Given the description of an element on the screen output the (x, y) to click on. 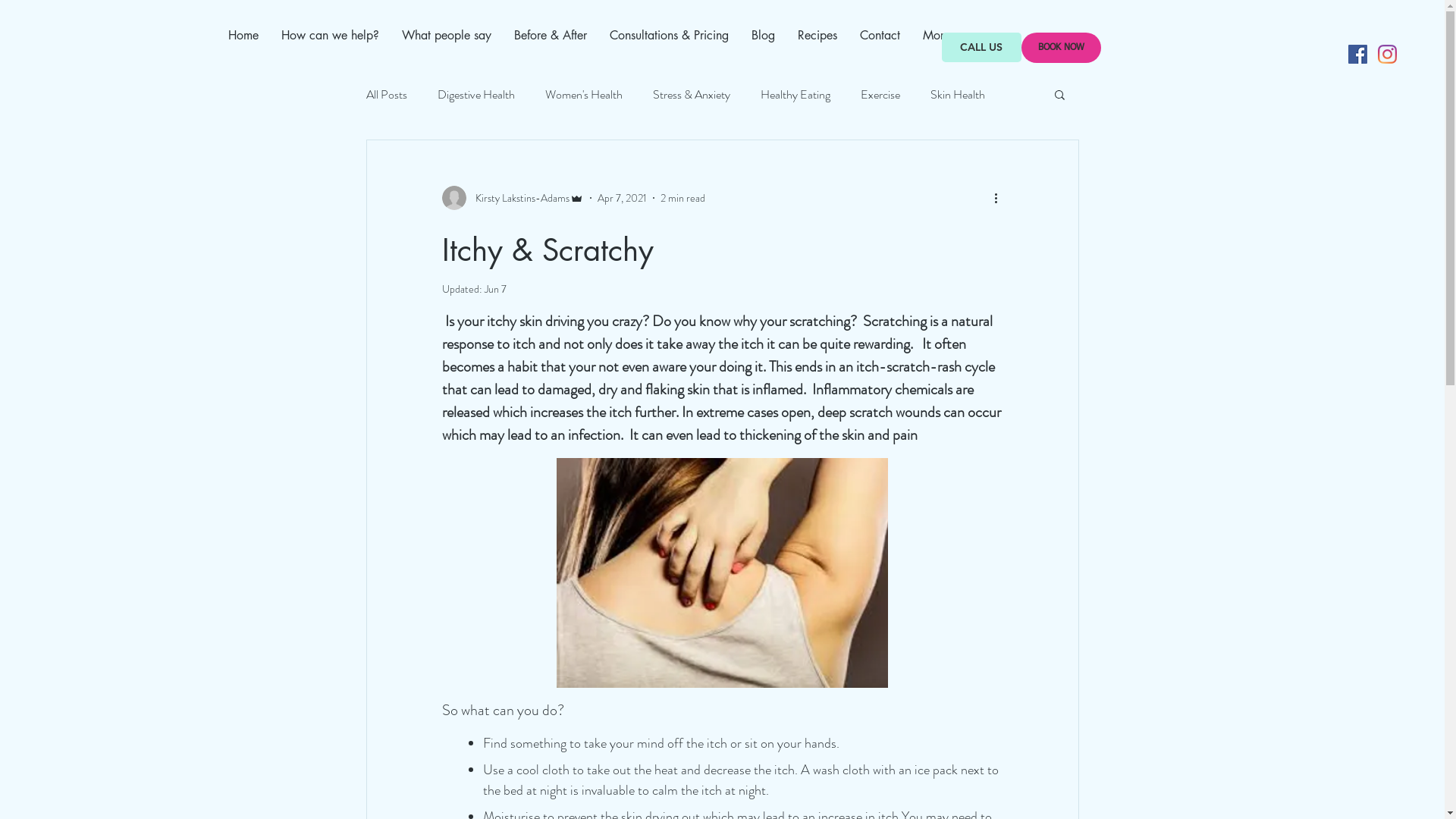
BOOK NOW Element type: text (1060, 47)
Exercise Element type: text (879, 93)
Digestive Health Element type: text (475, 93)
Consultations & Pricing Element type: text (668, 47)
Before & After Element type: text (549, 47)
How can we help? Element type: text (329, 47)
CALL US Element type: text (981, 47)
Healthy Eating Element type: text (794, 93)
What people say Element type: text (445, 47)
Women's Health Element type: text (582, 93)
Stress & Anxiety Element type: text (690, 93)
Home Element type: text (242, 47)
Contact Element type: text (878, 47)
Recipes Element type: text (816, 47)
Skin Health Element type: text (956, 93)
Kirsty Lakstins-Adams Element type: text (512, 197)
All Posts Element type: text (385, 93)
Blog Element type: text (763, 47)
